Given the description of an element on the screen output the (x, y) to click on. 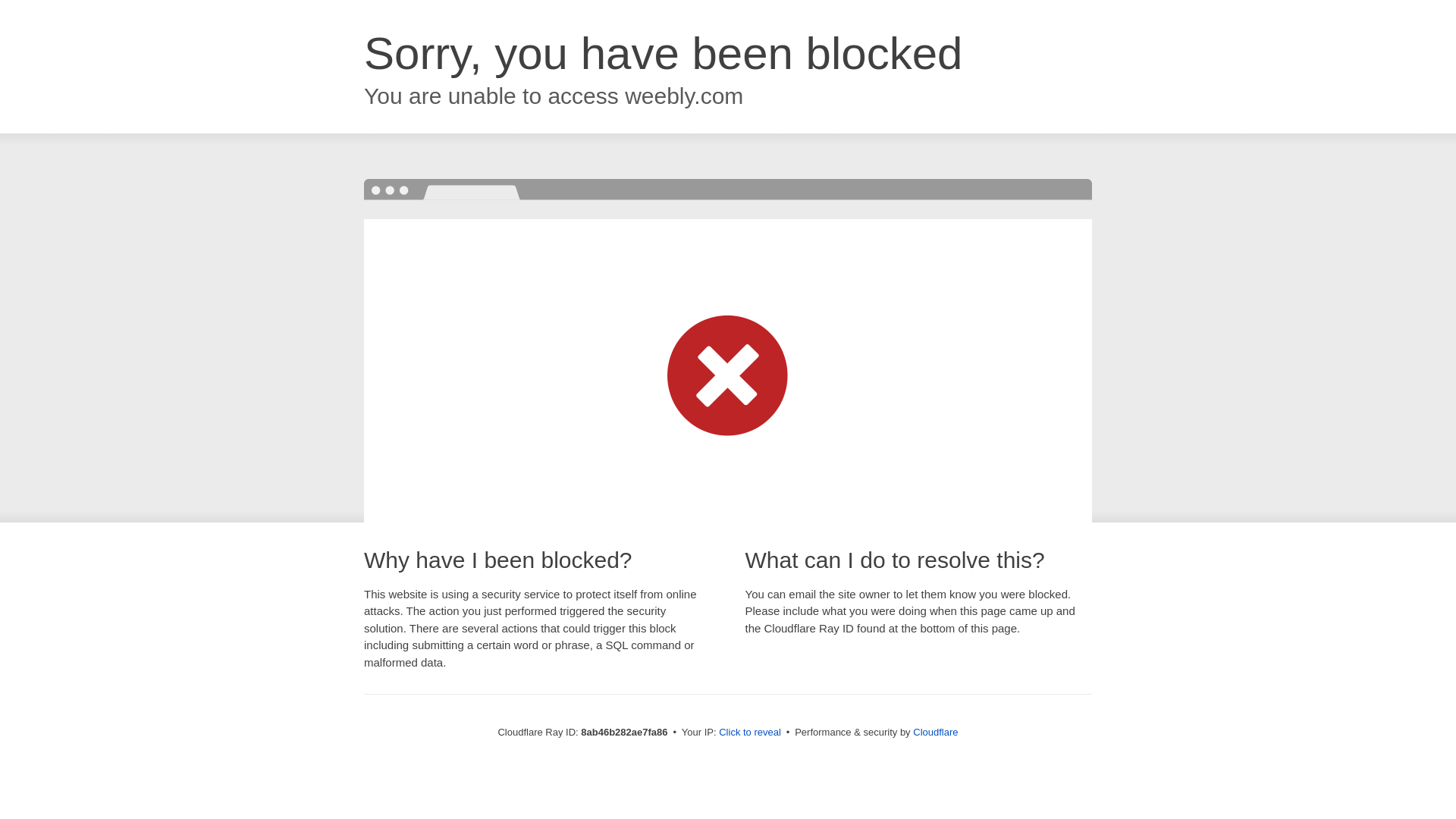
Cloudflare (935, 731)
Click to reveal (749, 732)
